Given the description of an element on the screen output the (x, y) to click on. 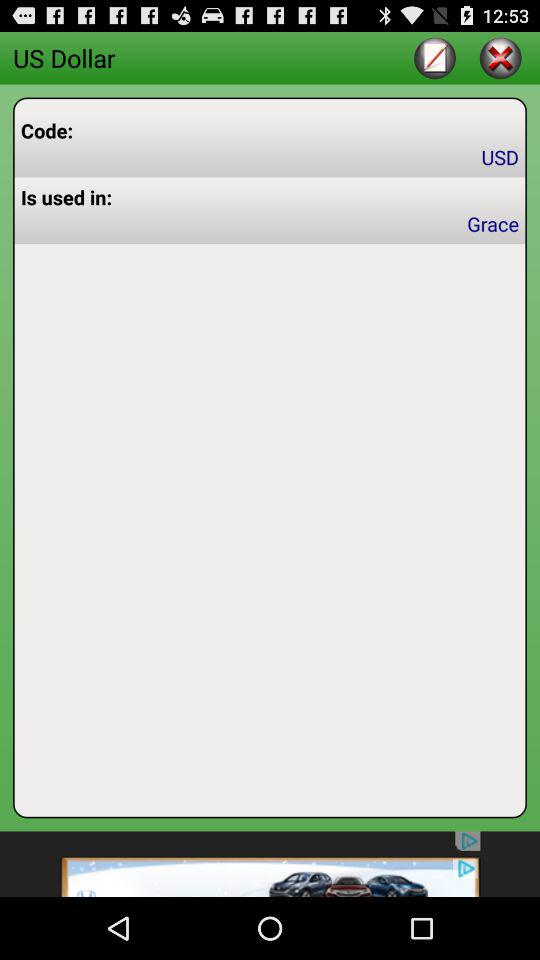
close the window (500, 57)
